Given the description of an element on the screen output the (x, y) to click on. 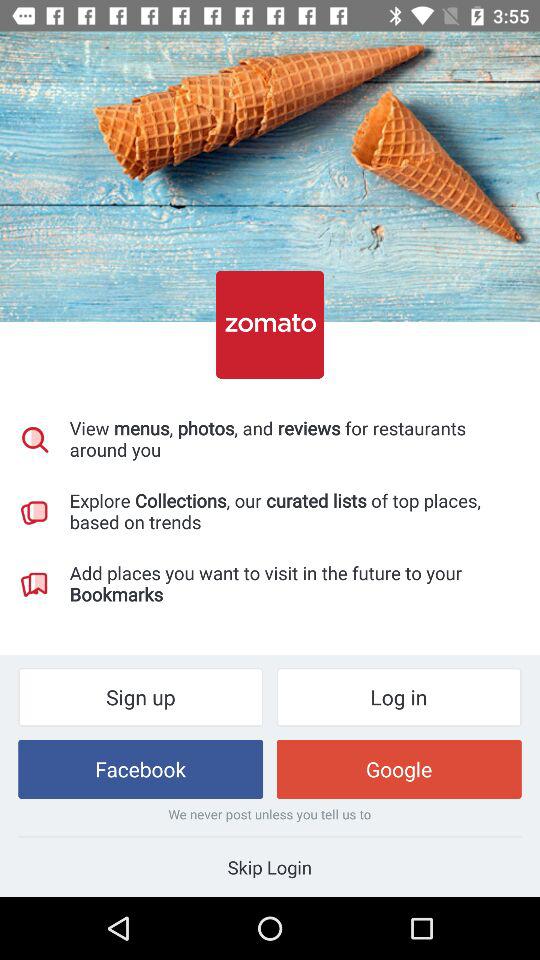
open icon to the right of sign up icon (398, 696)
